Given the description of an element on the screen output the (x, y) to click on. 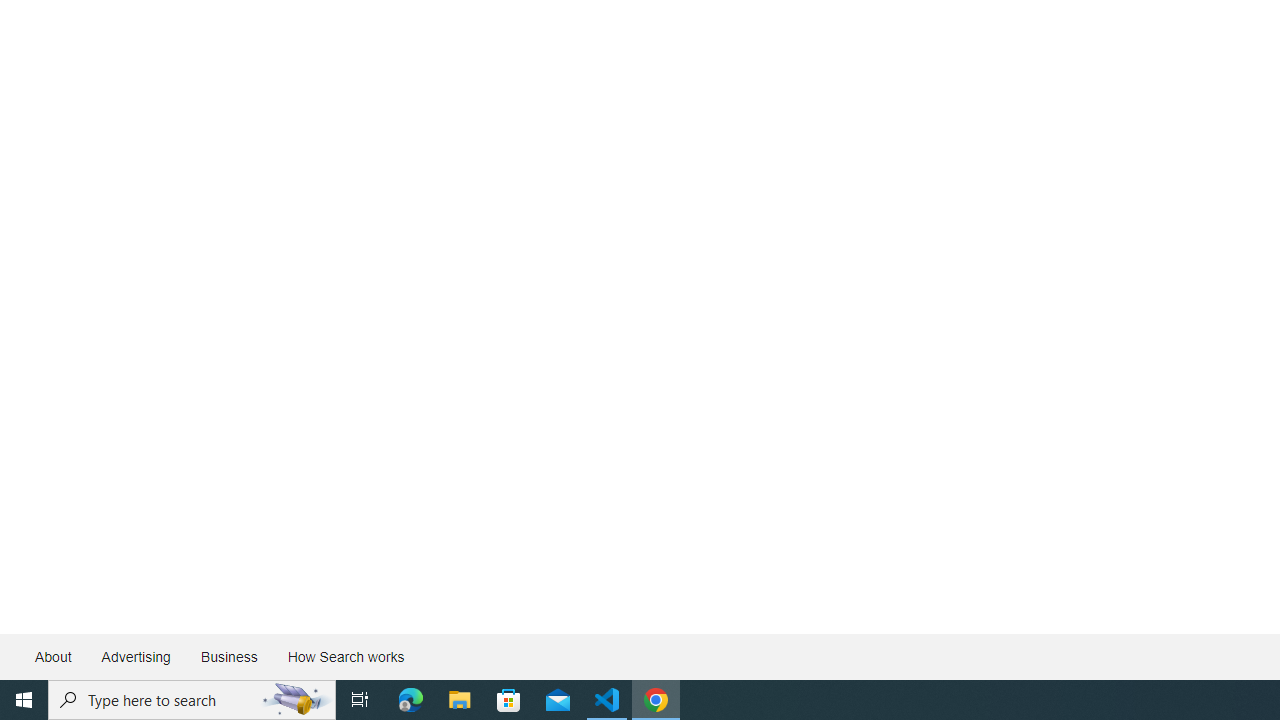
Advertising (135, 656)
How Search works (345, 656)
Business (228, 656)
